Given the description of an element on the screen output the (x, y) to click on. 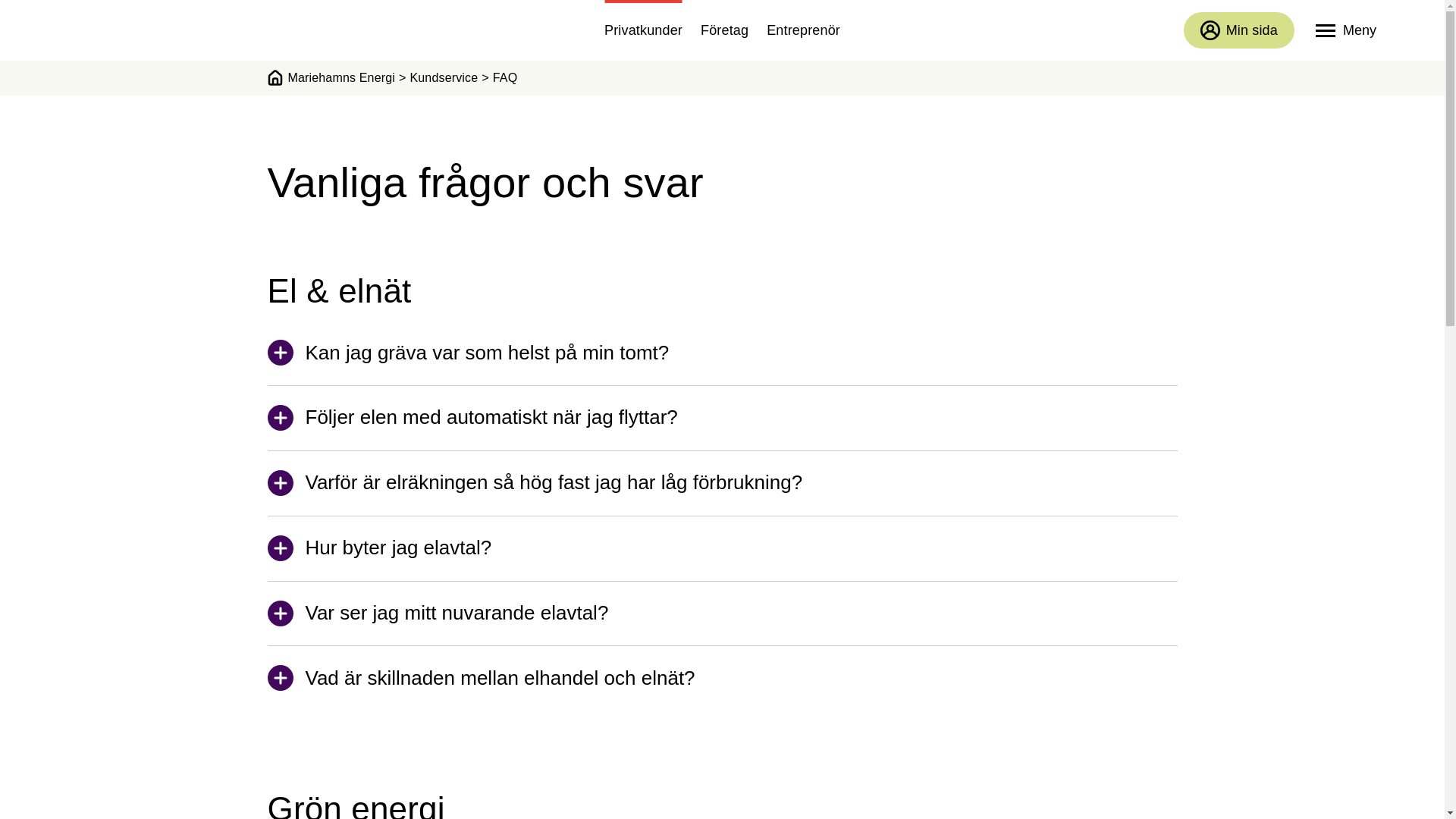
Hur byter jag elavtal? Element type: text (721, 557)
Mariehamns Energi Element type: text (330, 77)
Privatkunder Element type: text (643, 30)
Var ser jag mitt nuvarande elavtal? Element type: text (721, 622)
Min sida Element type: text (1238, 30)
Kundservice Element type: text (443, 77)
Mariehamns Energi Element type: text (140, 30)
Meny Element type: text (1345, 30)
